Given the description of an element on the screen output the (x, y) to click on. 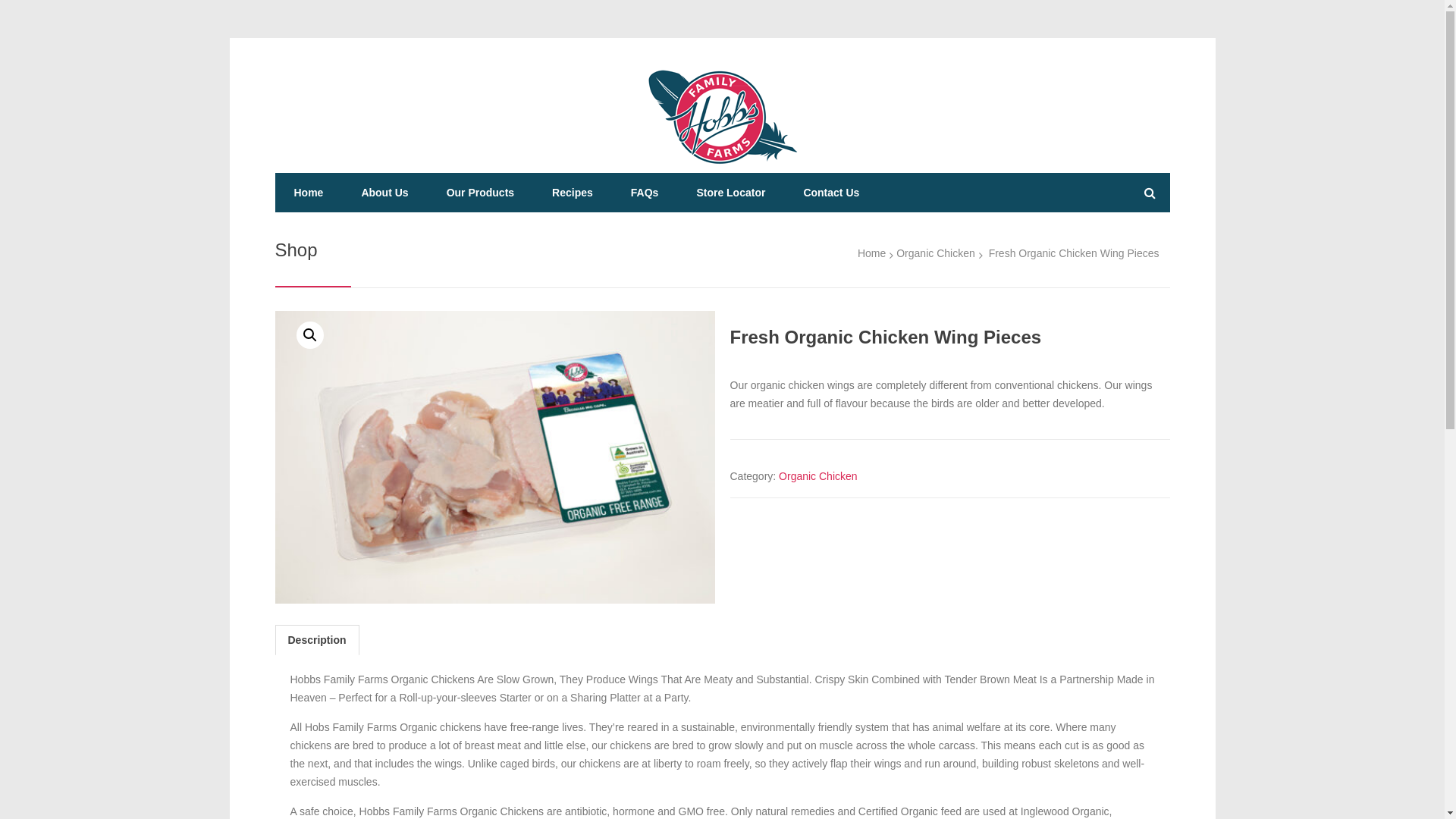
Hobbs Chicken Wing Pieces Element type: hover (494, 456)
Store Locator Element type: text (730, 192)
Contact Us Element type: text (831, 192)
FAQs Element type: text (644, 192)
Description Element type: text (316, 639)
Home Element type: text (871, 253)
Home Element type: text (308, 192)
Organic Chicken Element type: text (817, 476)
Our Products Element type: text (480, 192)
Organic Chicken Element type: text (935, 253)
About Us Element type: text (384, 192)
Recipes Element type: text (572, 192)
Hobbs Family Farms Element type: hover (721, 116)
